Given the description of an element on the screen output the (x, y) to click on. 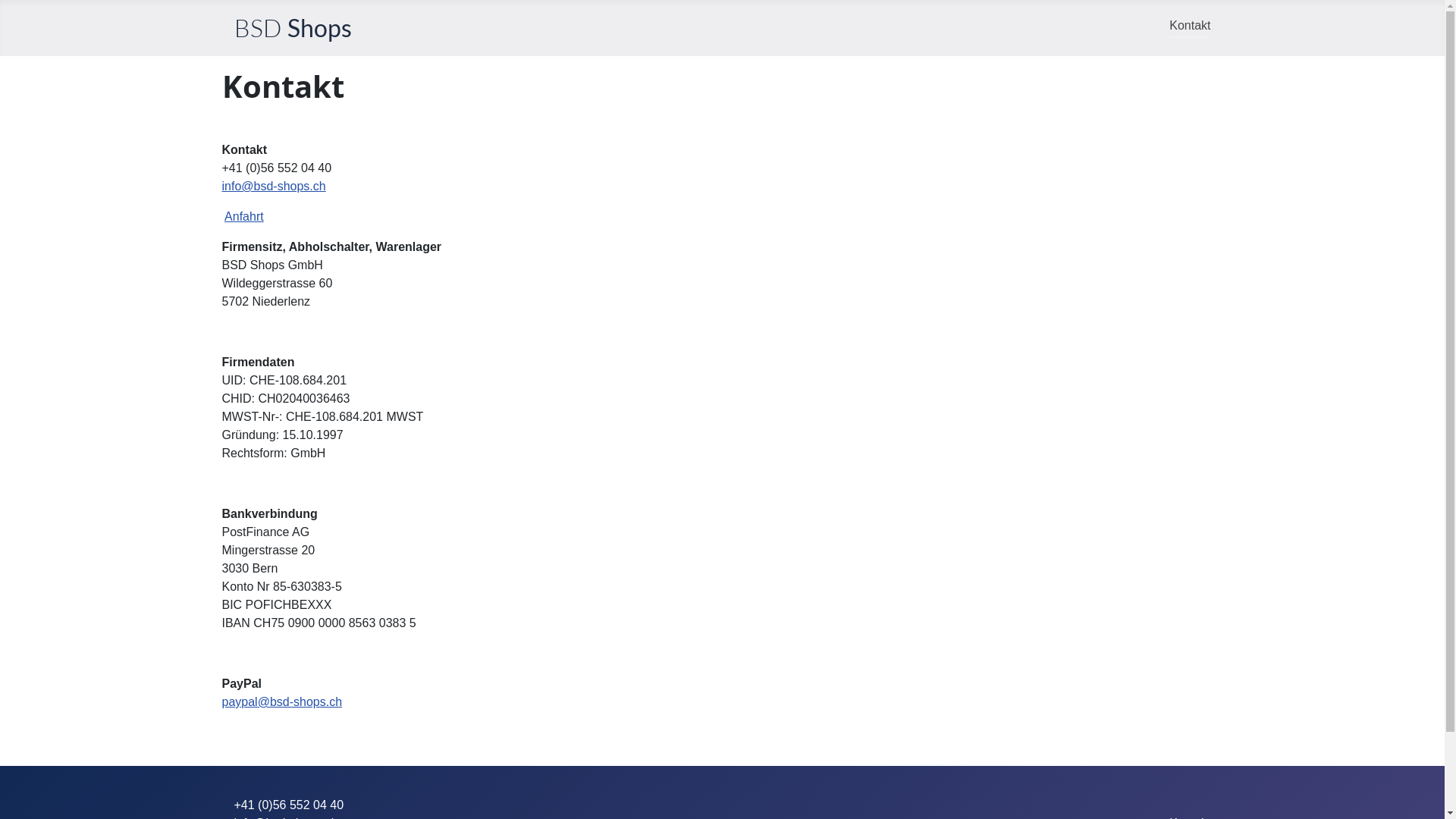
BSDShops Element type: text (292, 27)
Anfahrt Element type: text (243, 216)
info@bsd-shops.ch Element type: text (273, 185)
Kontakt Element type: text (1189, 24)
paypal@bsd-shops.ch Element type: text (281, 701)
